Given the description of an element on the screen output the (x, y) to click on. 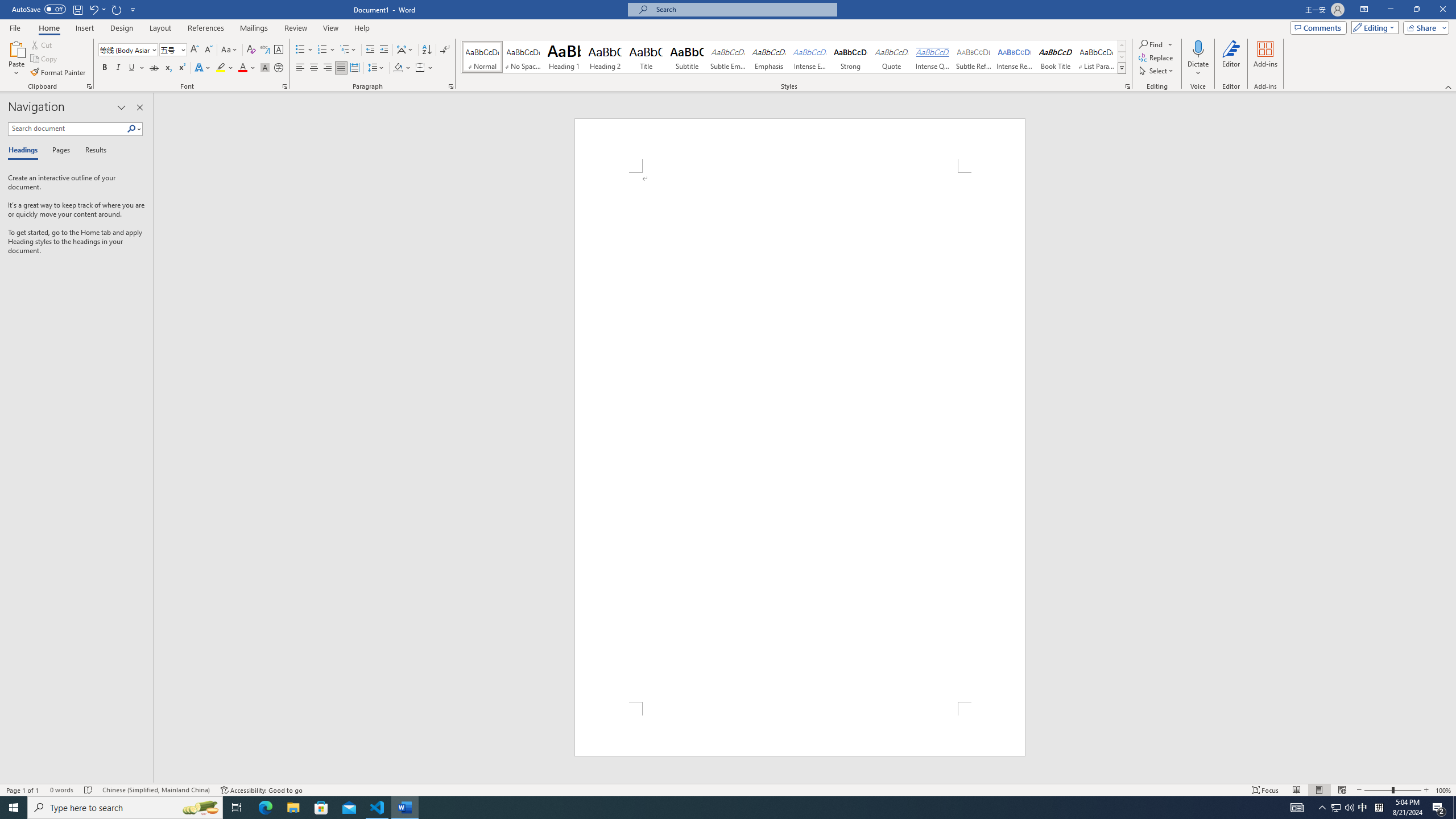
AutomationID: QuickStylesGallery (794, 56)
Language Chinese (Simplified, Mainland China) (155, 790)
Undo Apply Quick Style (92, 9)
Title (646, 56)
Quote (891, 56)
